Given the description of an element on the screen output the (x, y) to click on. 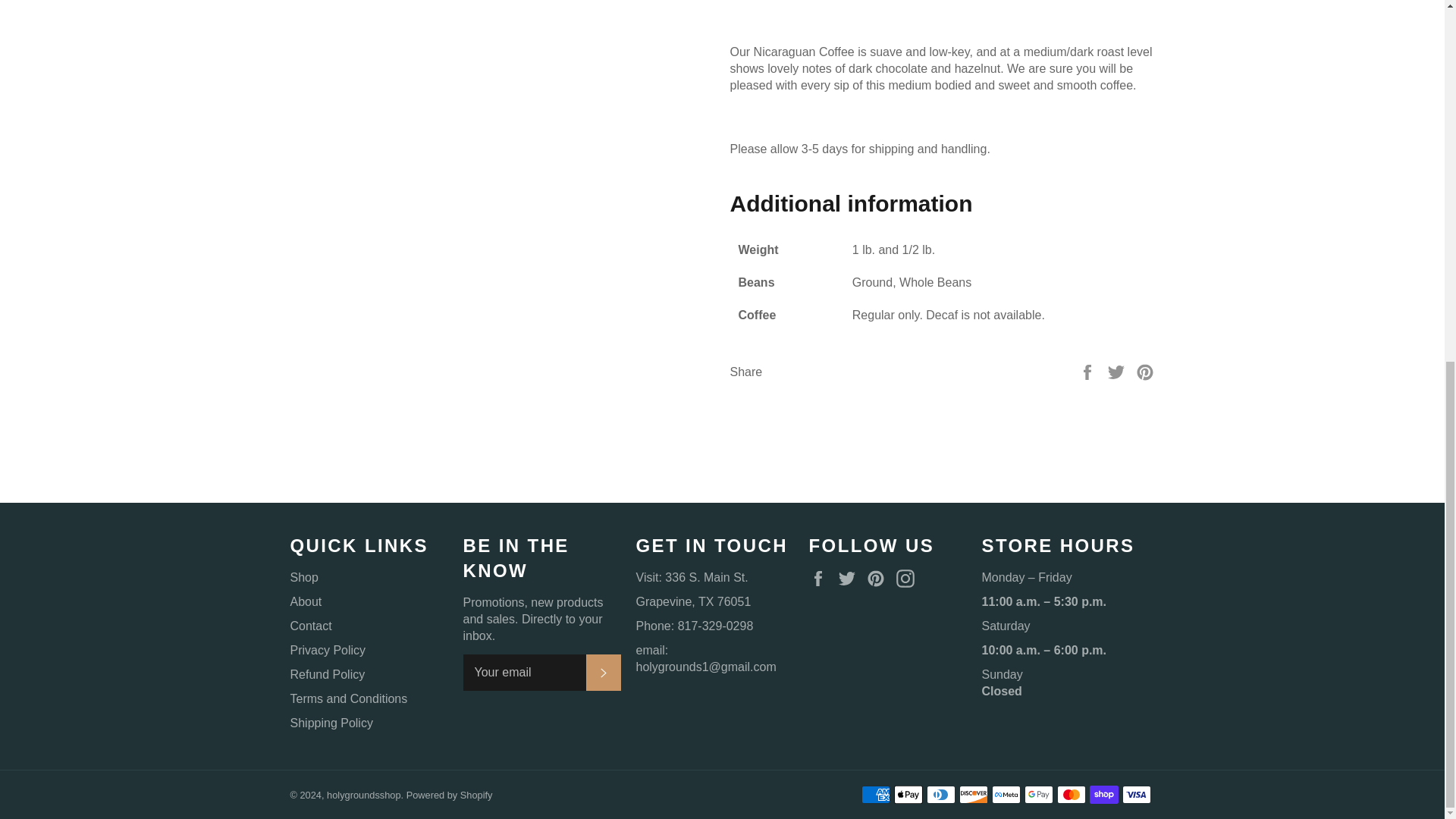
Pin on Pinterest (1144, 370)
Share on Facebook (1088, 370)
holygroundsshop on Twitter (850, 578)
Tweet on Twitter (1117, 370)
Share on Facebook (1088, 370)
Shop (303, 576)
holygroundsshop on Pinterest (879, 578)
holygroundsshop on Facebook (821, 578)
Tweet on Twitter (1117, 370)
Pin on Pinterest (1144, 370)
